Given the description of an element on the screen output the (x, y) to click on. 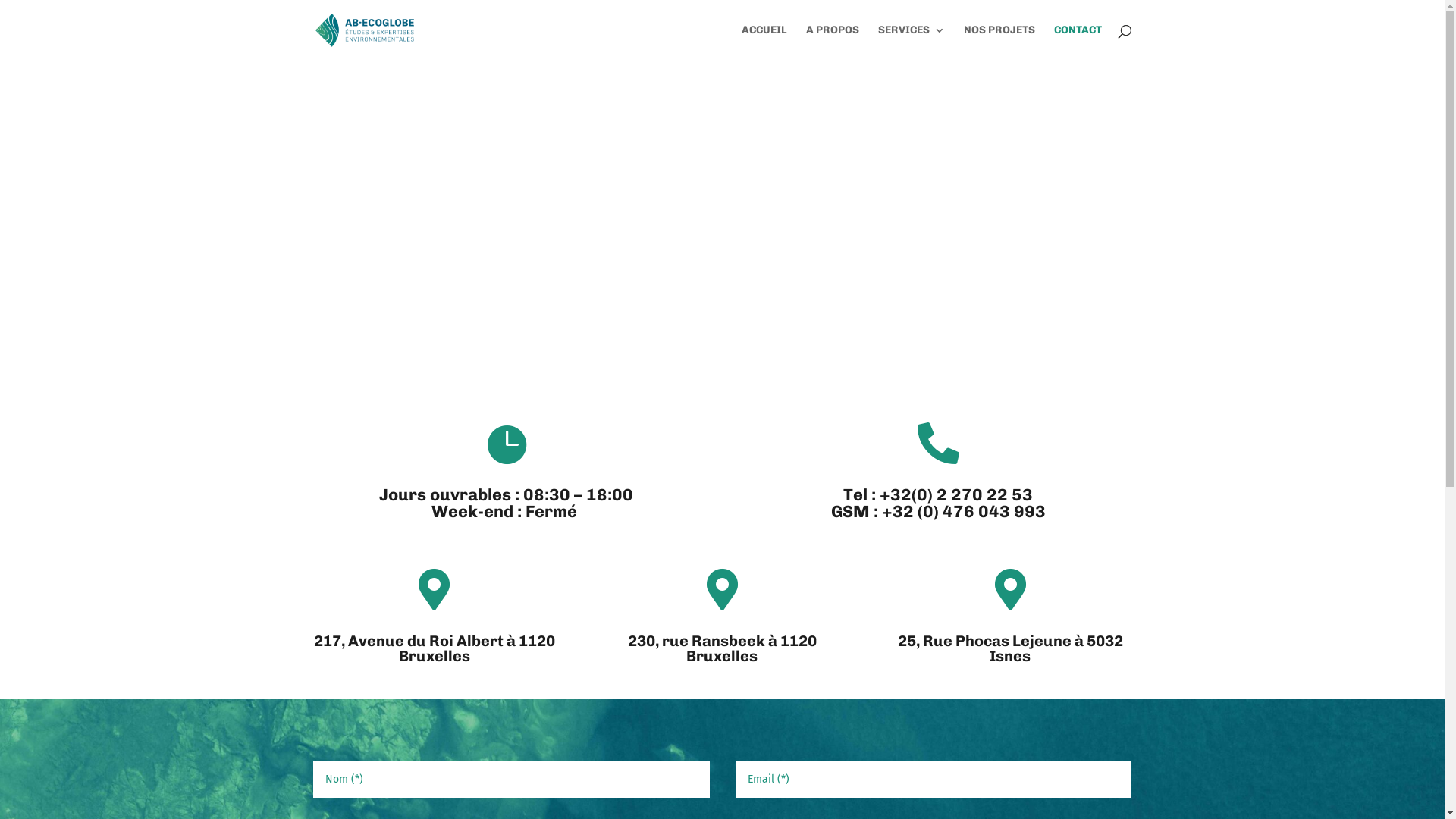
CONTACT Element type: text (1077, 42)
ACCUEIL Element type: text (764, 42)
SERVICES Element type: text (911, 42)
NOS PROJETS Element type: text (998, 42)
A PROPOS Element type: text (831, 42)
